Given the description of an element on the screen output the (x, y) to click on. 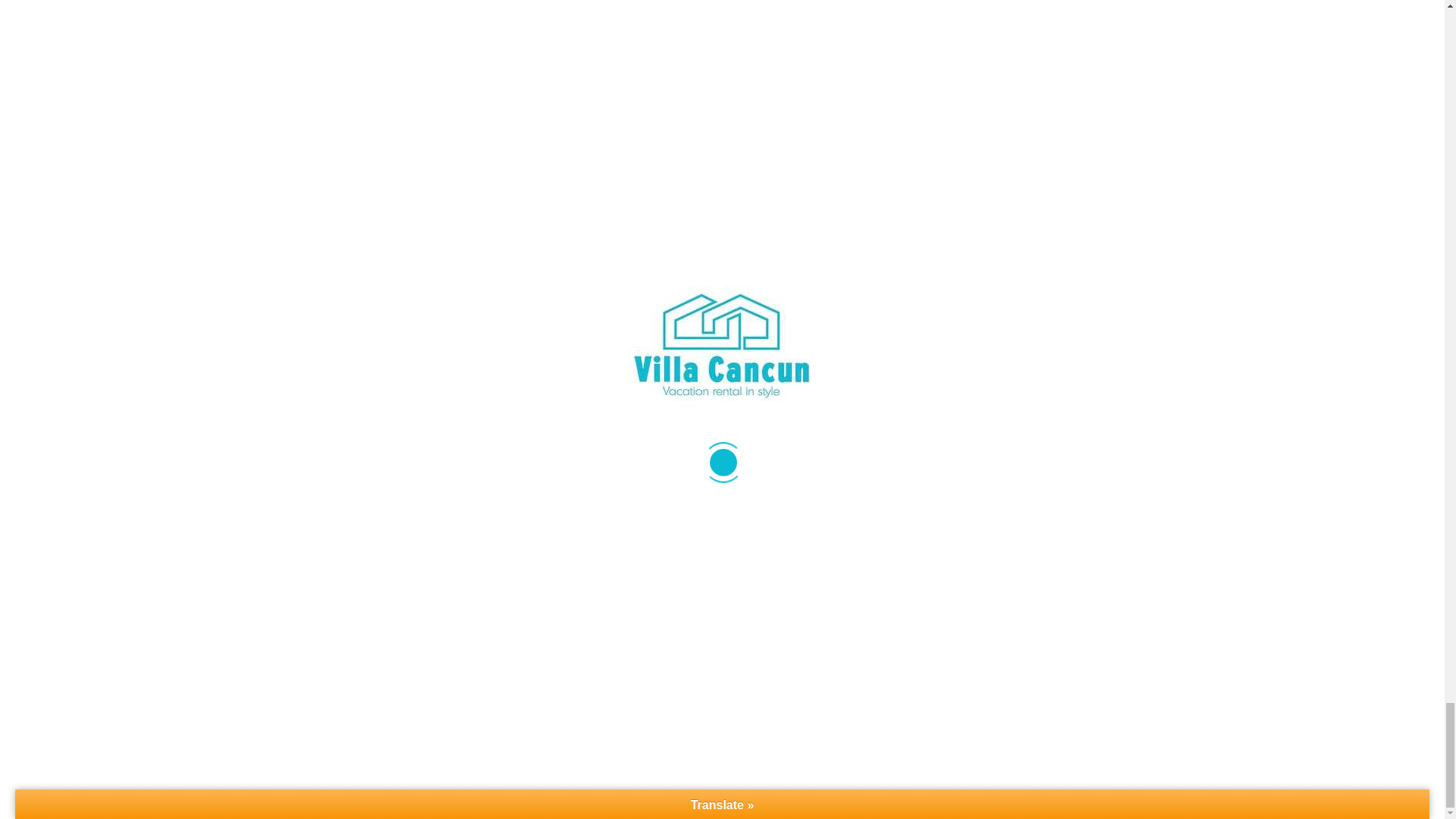
52 998 321 9748 (97, 468)
Rebecca Fellman Consulting, LLC (351, 797)
villacancun.com (97, 514)
